Given the description of an element on the screen output the (x, y) to click on. 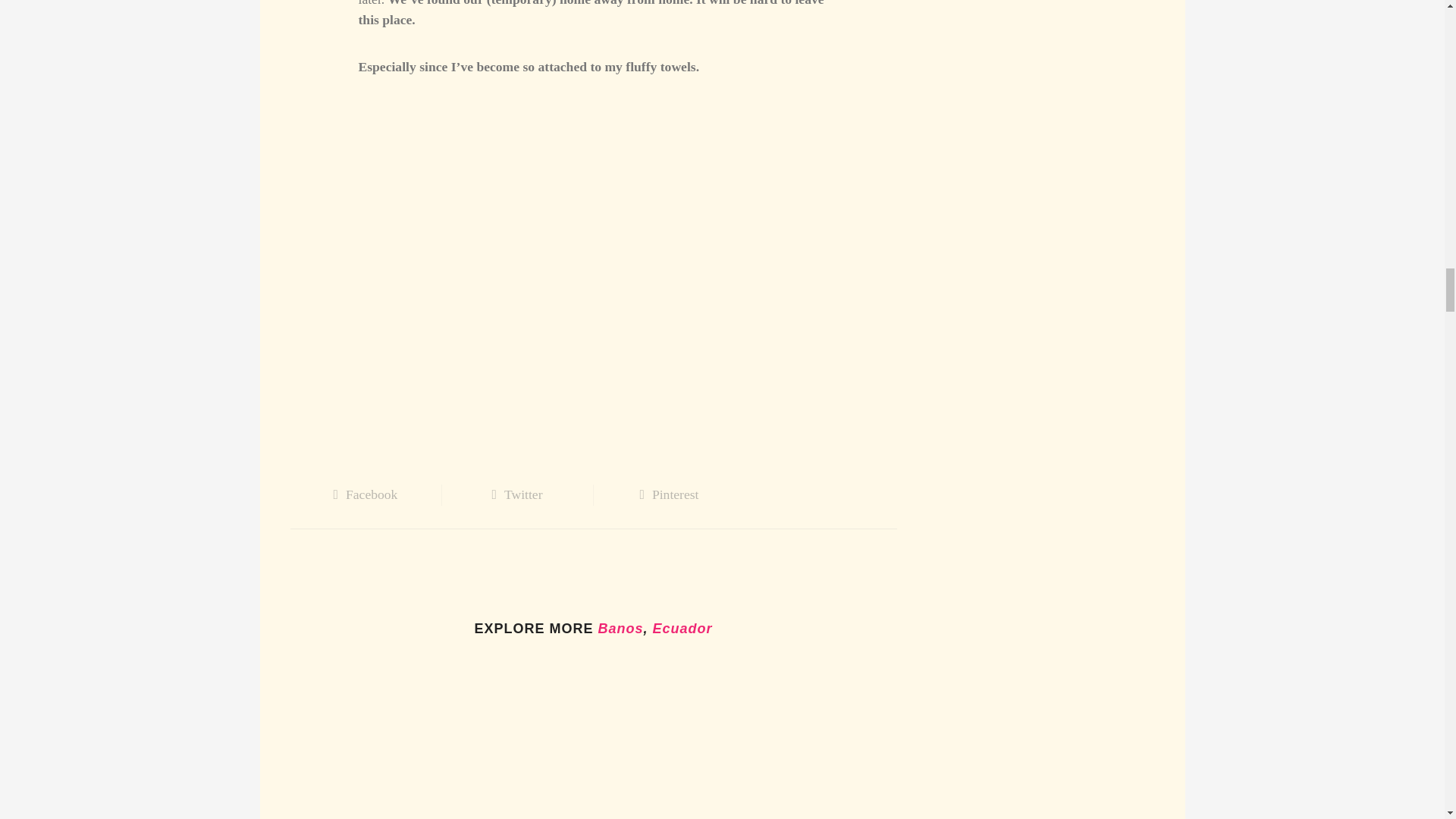
Pin this! (668, 494)
Share on Facebook (365, 494)
Tweet This! (516, 494)
